Given the description of an element on the screen output the (x, y) to click on. 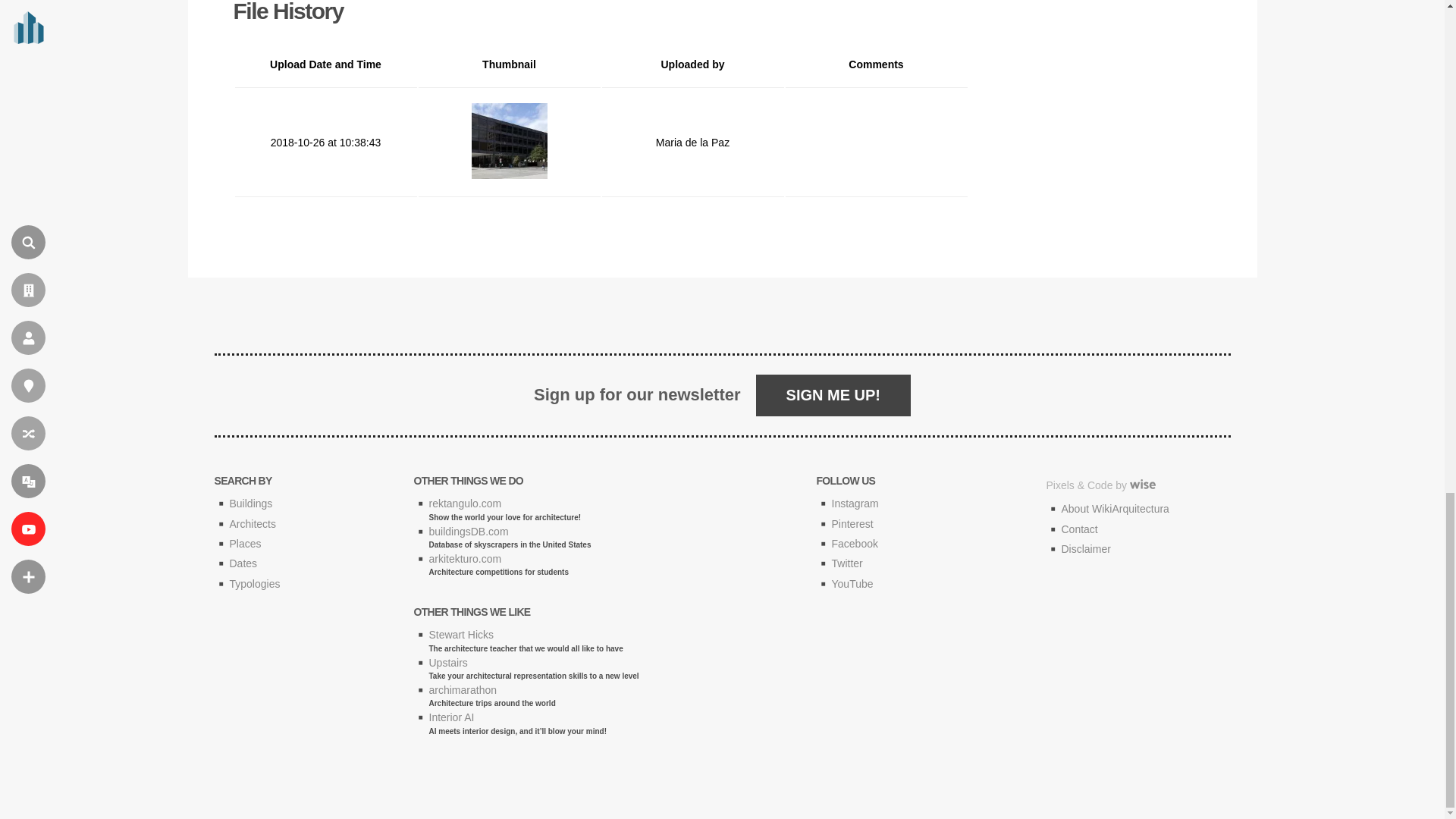
Buildings (250, 503)
Architects (251, 523)
SIGN ME UP! (833, 395)
